Given the description of an element on the screen output the (x, y) to click on. 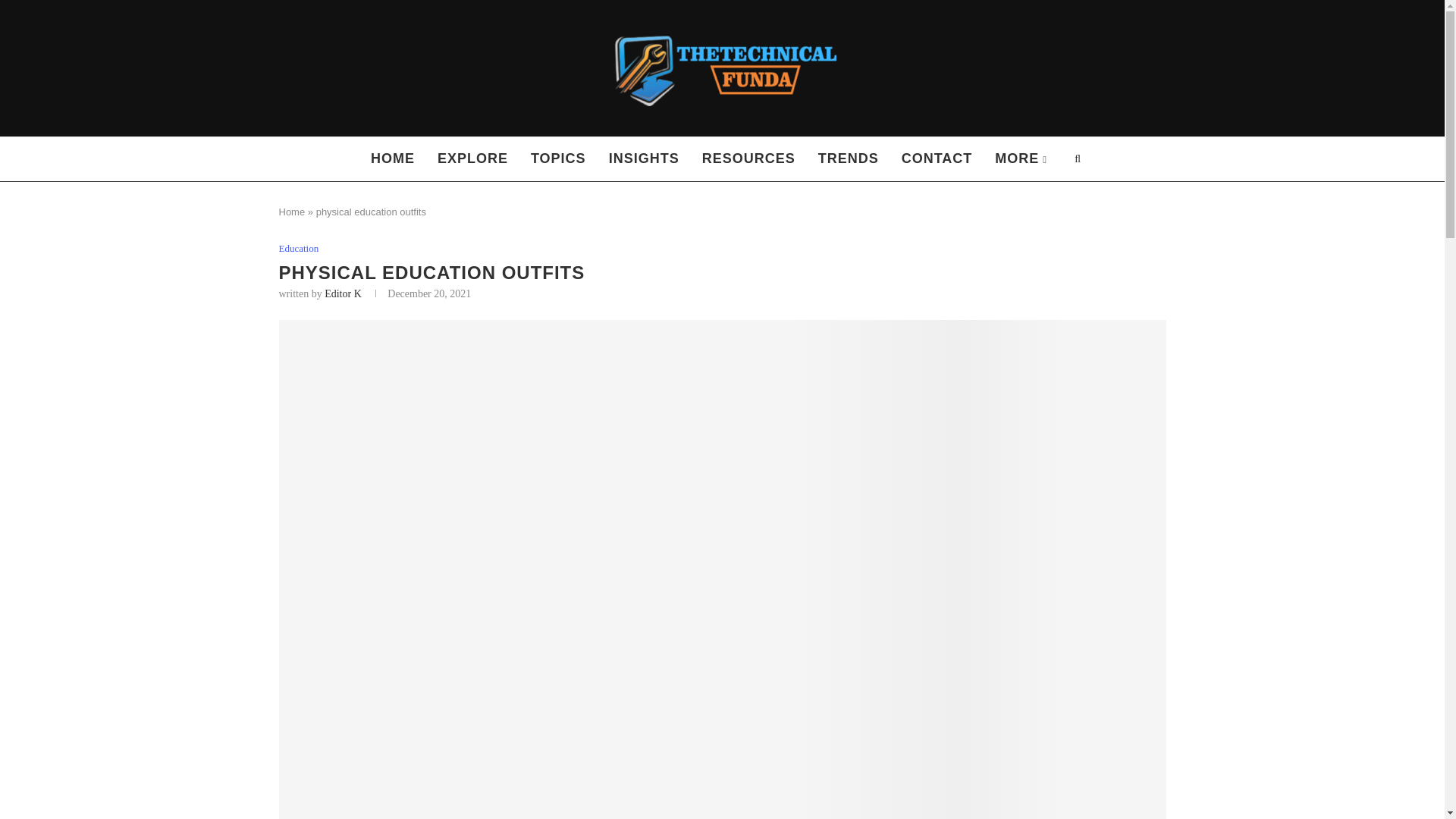
TRENDS (847, 158)
INSIGHTS (643, 158)
HOME (392, 158)
MORE (1021, 158)
TOPICS (557, 158)
Home (292, 211)
RESOURCES (748, 158)
Editor K (342, 293)
CONTACT (936, 158)
Education (298, 248)
